Given the description of an element on the screen output the (x, y) to click on. 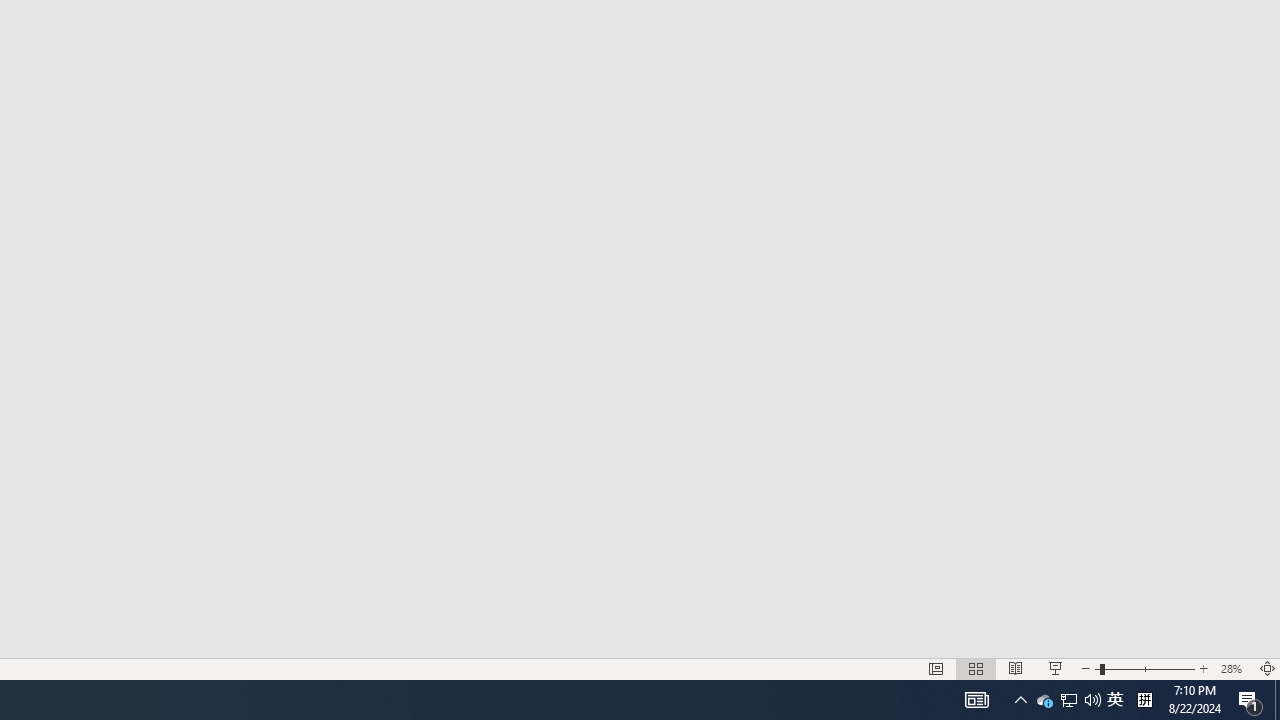
Zoom 28% (1234, 668)
